Given the description of an element on the screen output the (x, y) to click on. 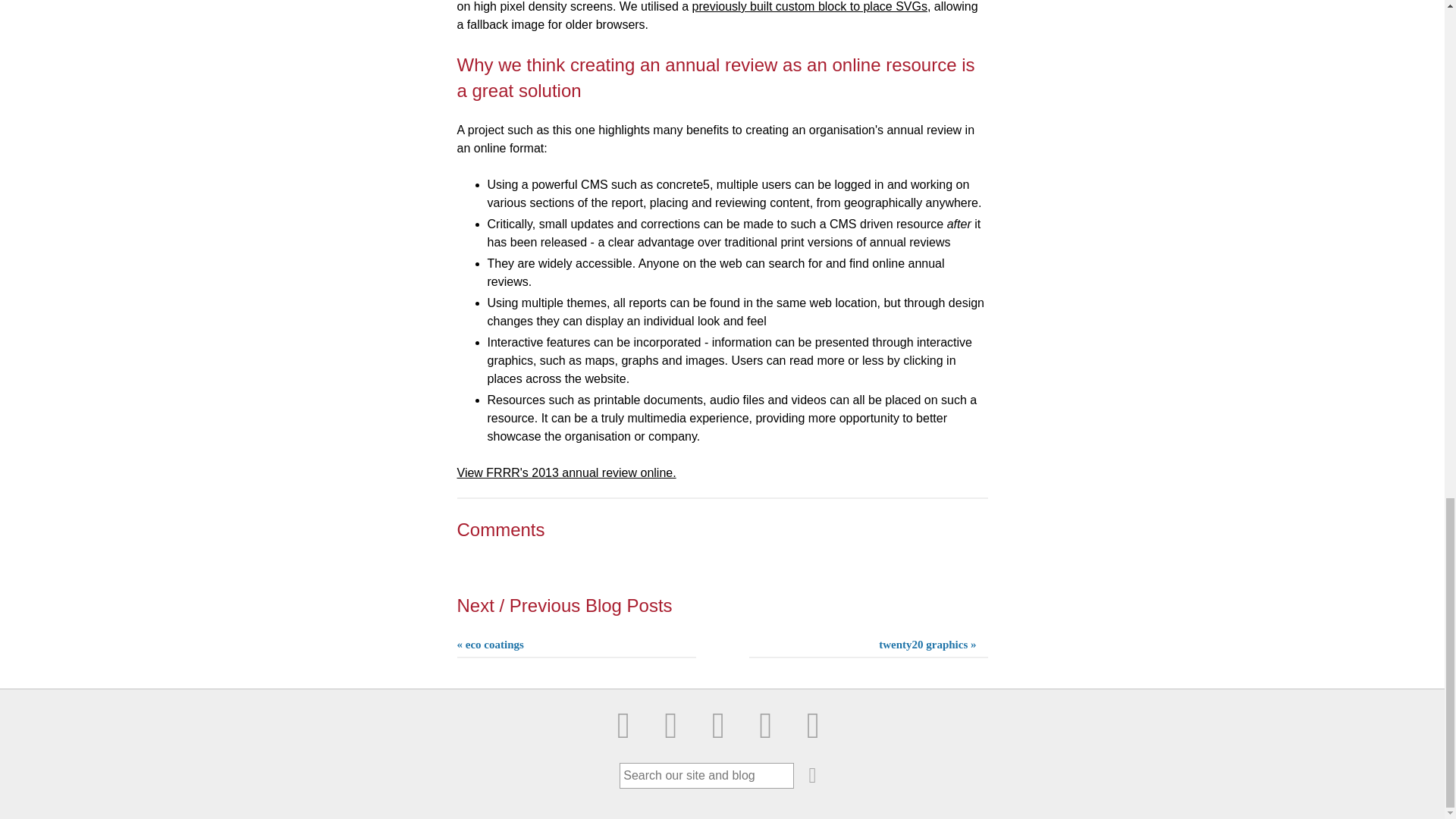
previously built custom block to place SVGs (810, 6)
View FRRR's 2013 annual review online. (566, 472)
